Given the description of an element on the screen output the (x, y) to click on. 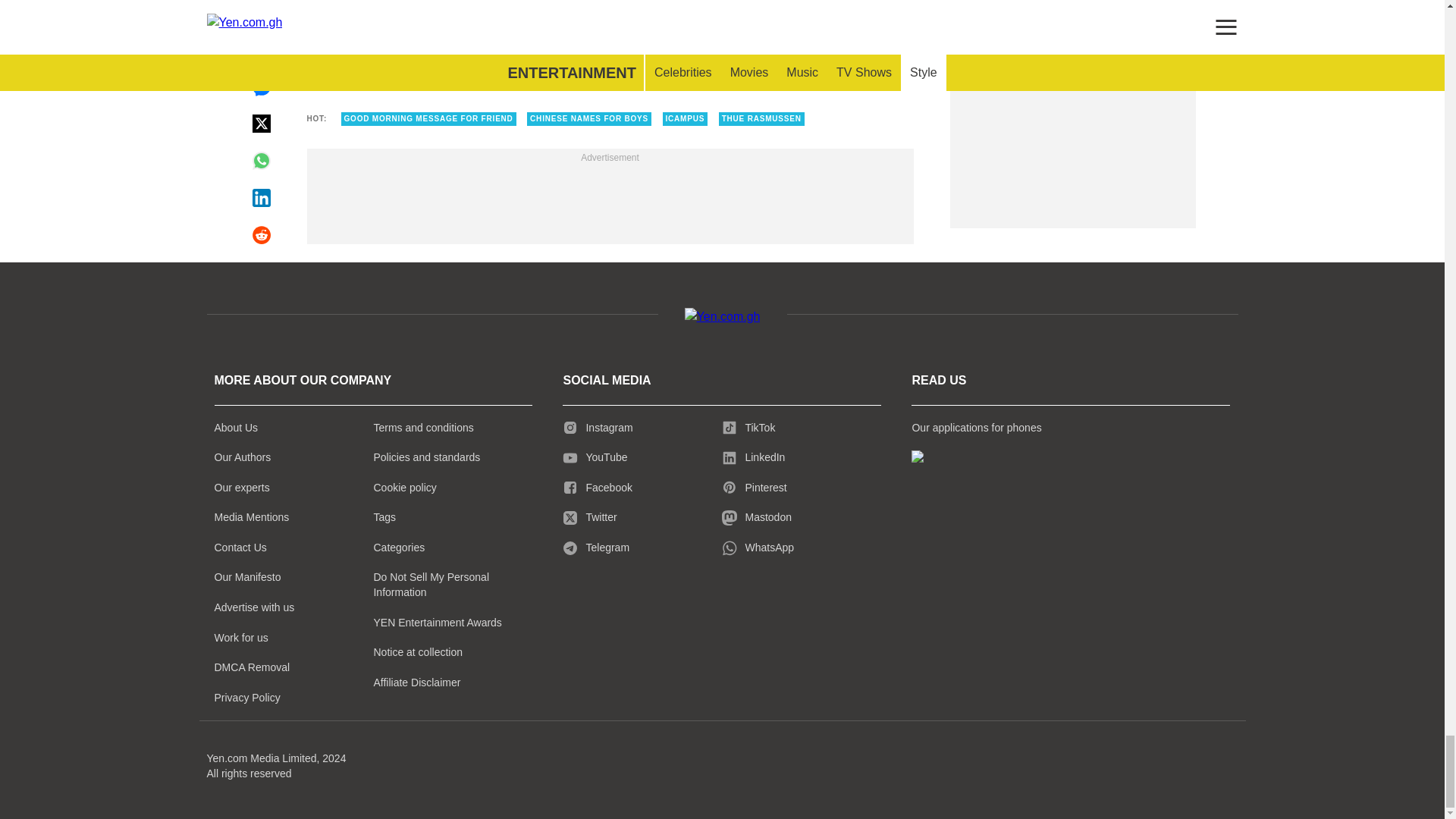
Author page (608, 30)
